Given the description of an element on the screen output the (x, y) to click on. 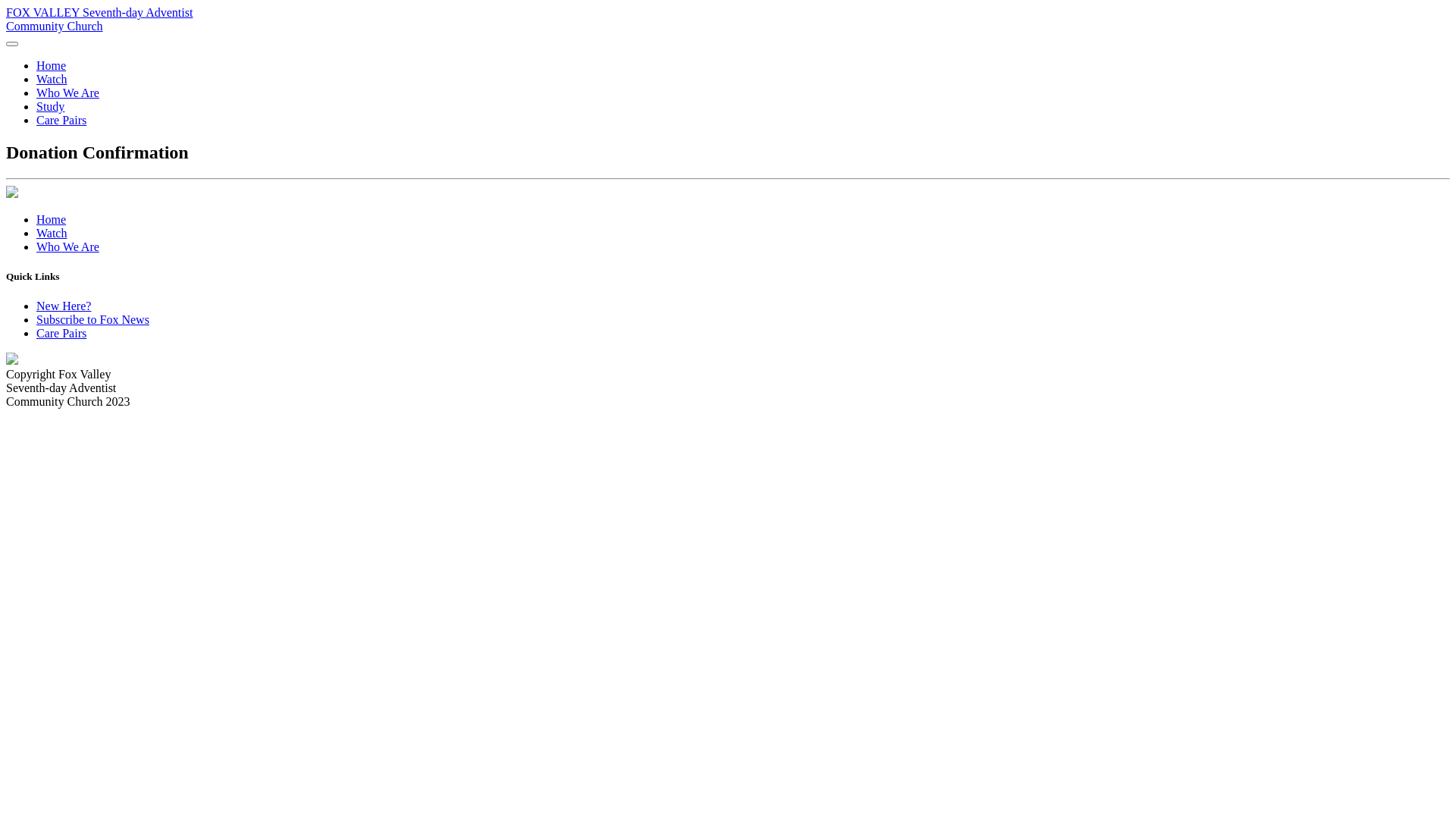
Who We Are Element type: text (67, 246)
Care Pairs Element type: text (61, 119)
Who We Are Element type: text (67, 92)
Home Element type: text (50, 65)
Watch Element type: text (51, 232)
Subscribe to Fox News Element type: text (92, 319)
Care Pairs Element type: text (61, 332)
Home Element type: text (50, 219)
New Here? Element type: text (63, 305)
Watch Element type: text (51, 78)
Study Element type: text (50, 106)
FOX VALLEY Seventh-day Adventist
Community Church Element type: text (99, 19)
